Given the description of an element on the screen output the (x, y) to click on. 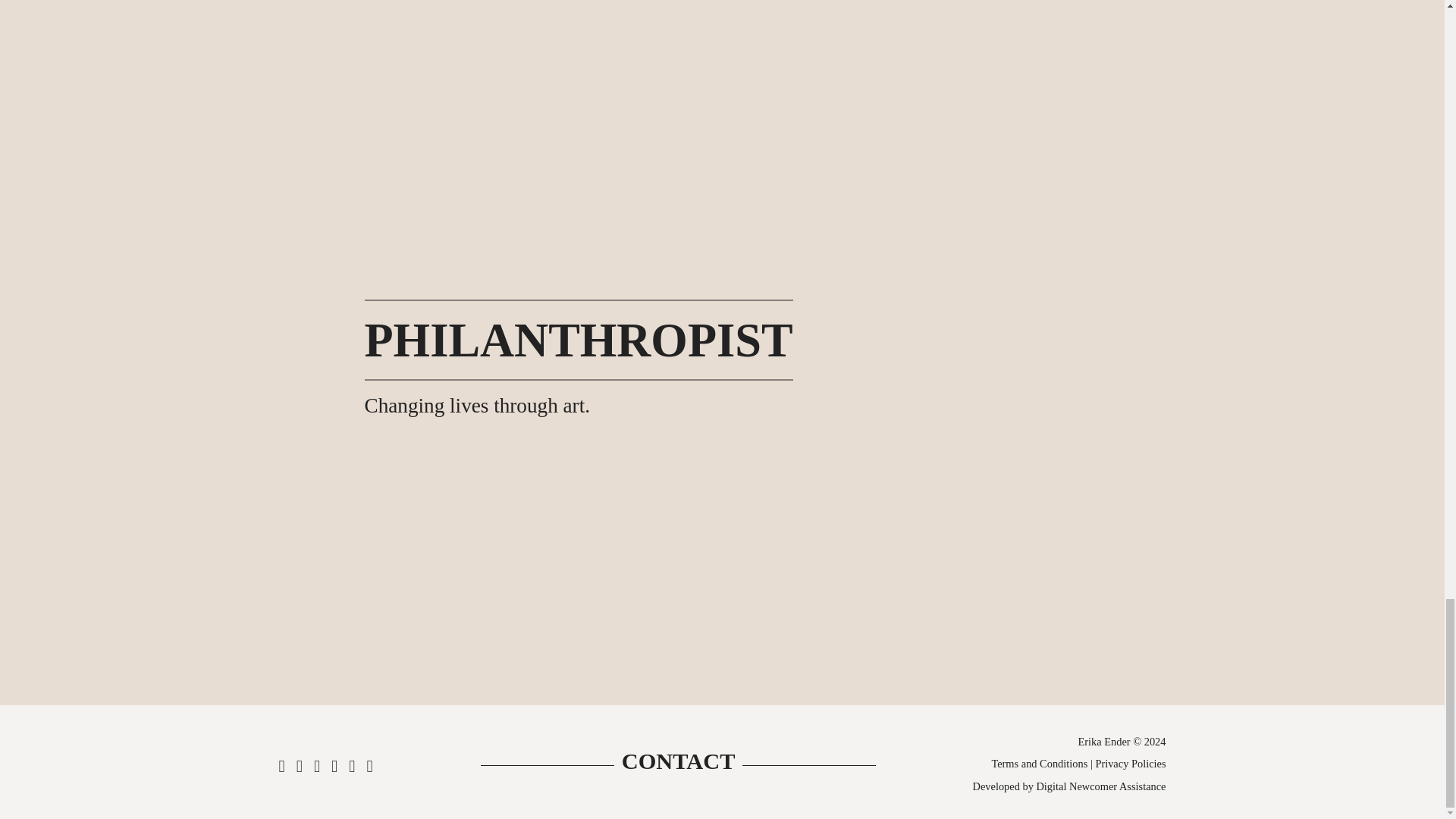
Terms and Conditions (1039, 783)
Digital Newcomer Assistance (1100, 799)
Privacy Policies (1130, 779)
